Given the description of an element on the screen output the (x, y) to click on. 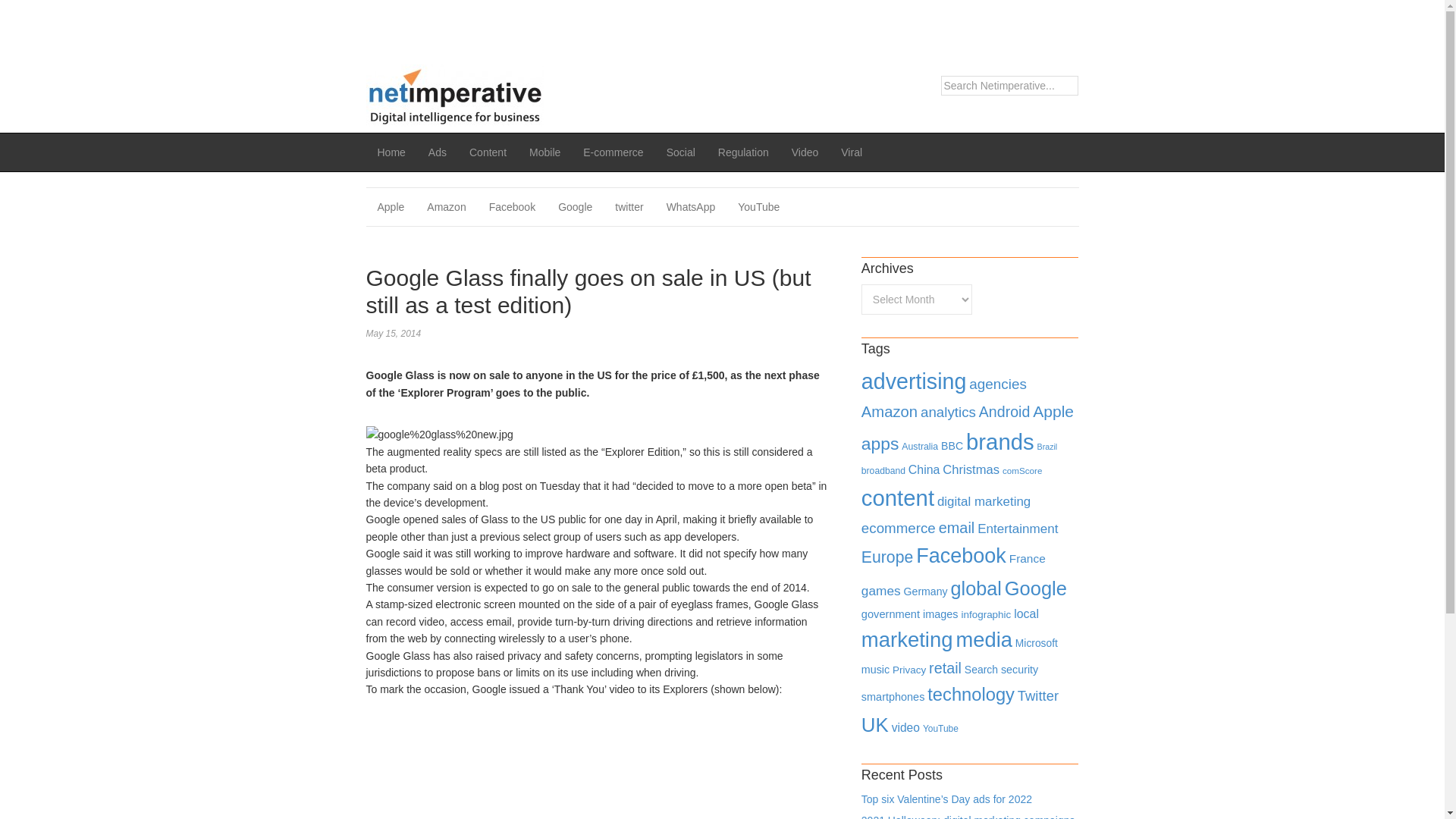
Apple (389, 207)
Apple (389, 207)
agencies (997, 383)
Home (390, 152)
Regulation (743, 152)
Mobile (545, 152)
Viral (851, 152)
advertising (913, 381)
Facebook (512, 207)
Mobile (545, 152)
YouTube (758, 207)
Facebook (512, 207)
brands (999, 441)
